Given the description of an element on the screen output the (x, y) to click on. 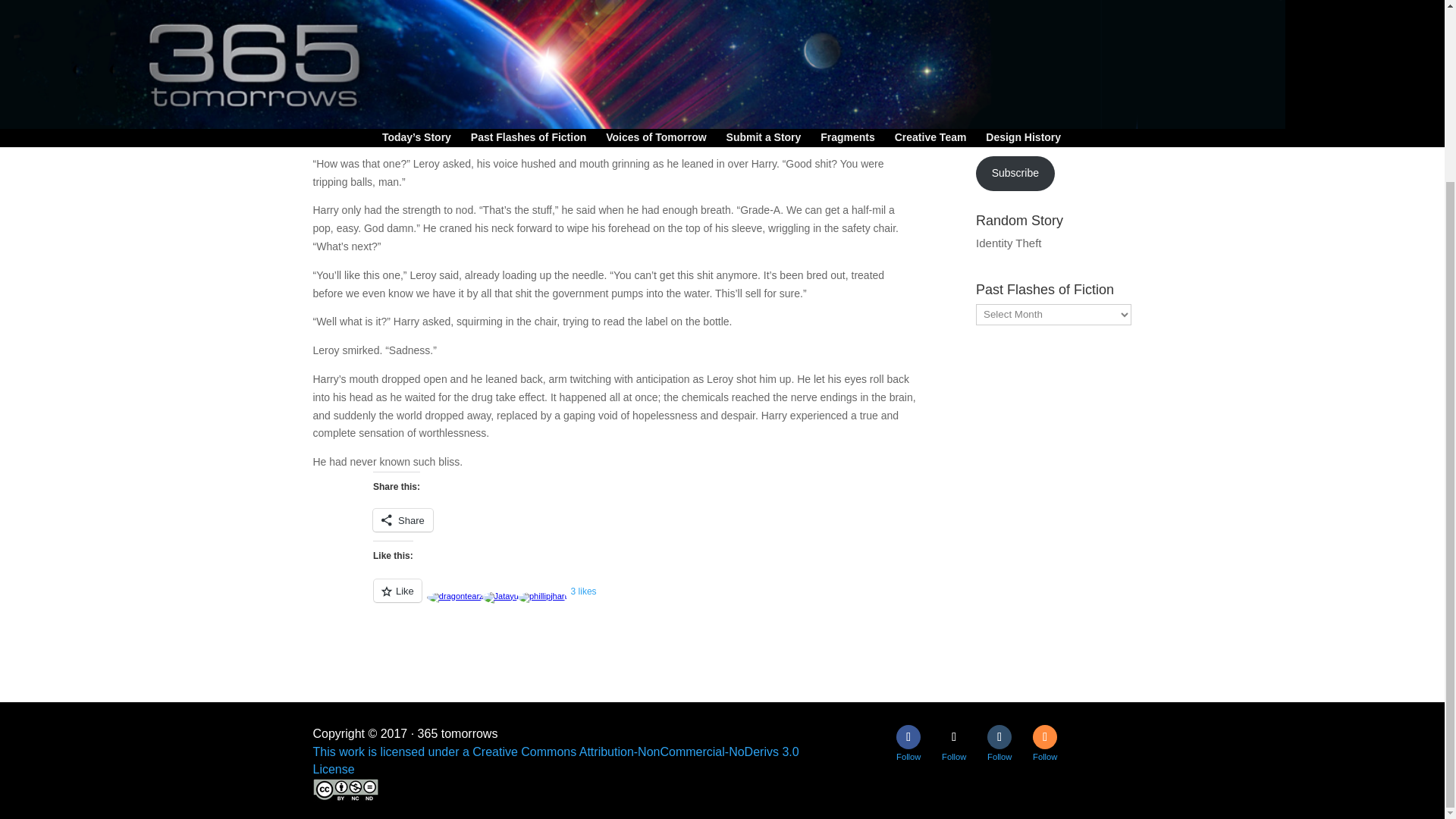
J. Loseth (347, 6)
Follow on Facebook (908, 736)
Follow on RSS (1044, 736)
Follow (1044, 736)
Story (451, 6)
Follow on tumblr (999, 736)
Like or Reblog (673, 598)
Identity Theft (1008, 242)
Subscribe (1014, 173)
Follow (954, 736)
Posts by J. Loseth (347, 6)
Follow (999, 736)
Share (402, 519)
Follow on Twitter (954, 736)
